Given the description of an element on the screen output the (x, y) to click on. 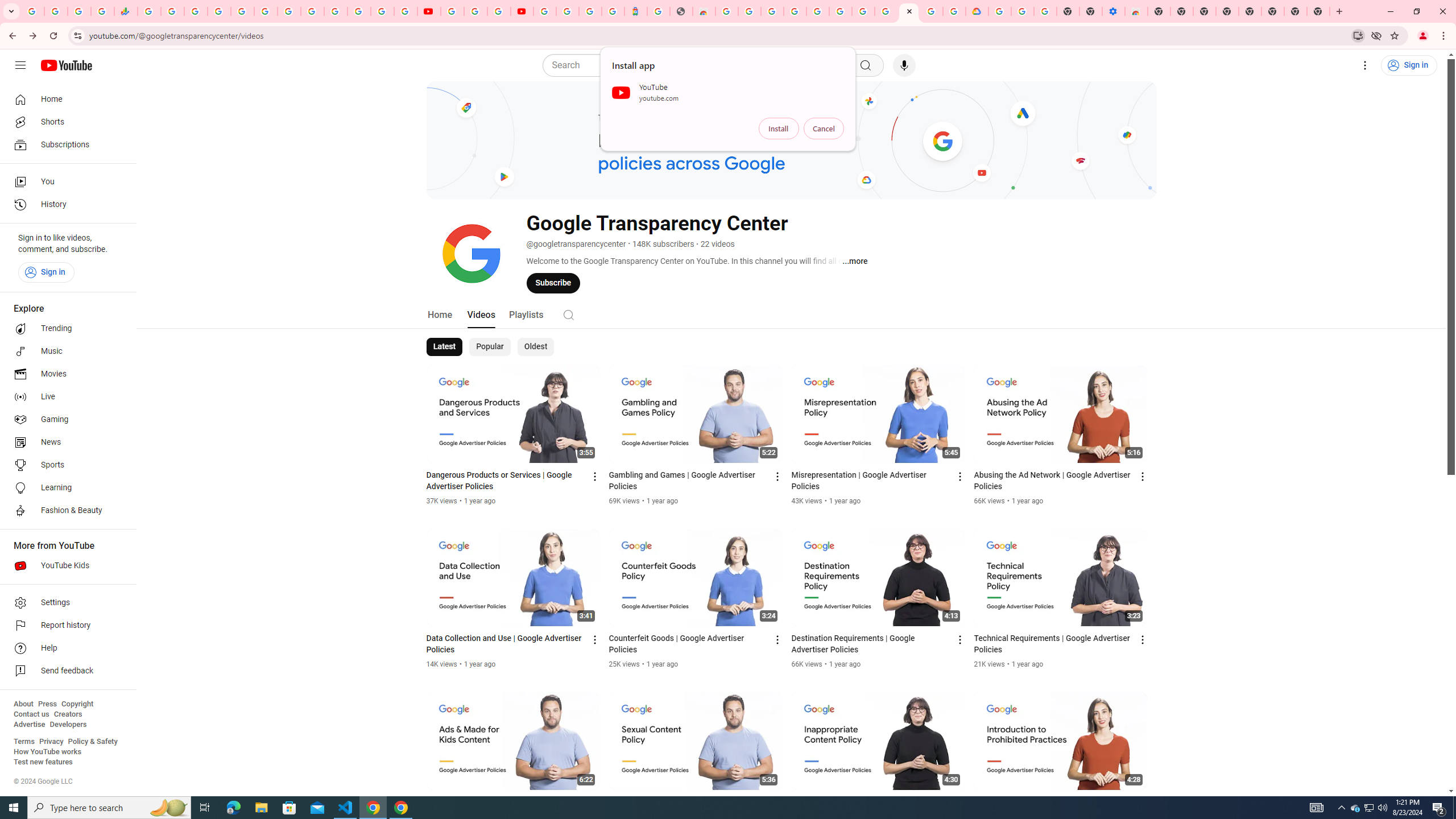
History (64, 204)
Contact us (31, 714)
News (64, 441)
YouTube (451, 11)
Atour Hotel - Google hotels (635, 11)
Sign in - Google Accounts (545, 11)
Turn cookies on or off - Computer - Google Account Help (1045, 11)
Browse the Google Chrome Community - Google Chrome Community (954, 11)
Chrome Web Store - Household (703, 11)
Music (64, 350)
Home (64, 99)
